Given the description of an element on the screen output the (x, y) to click on. 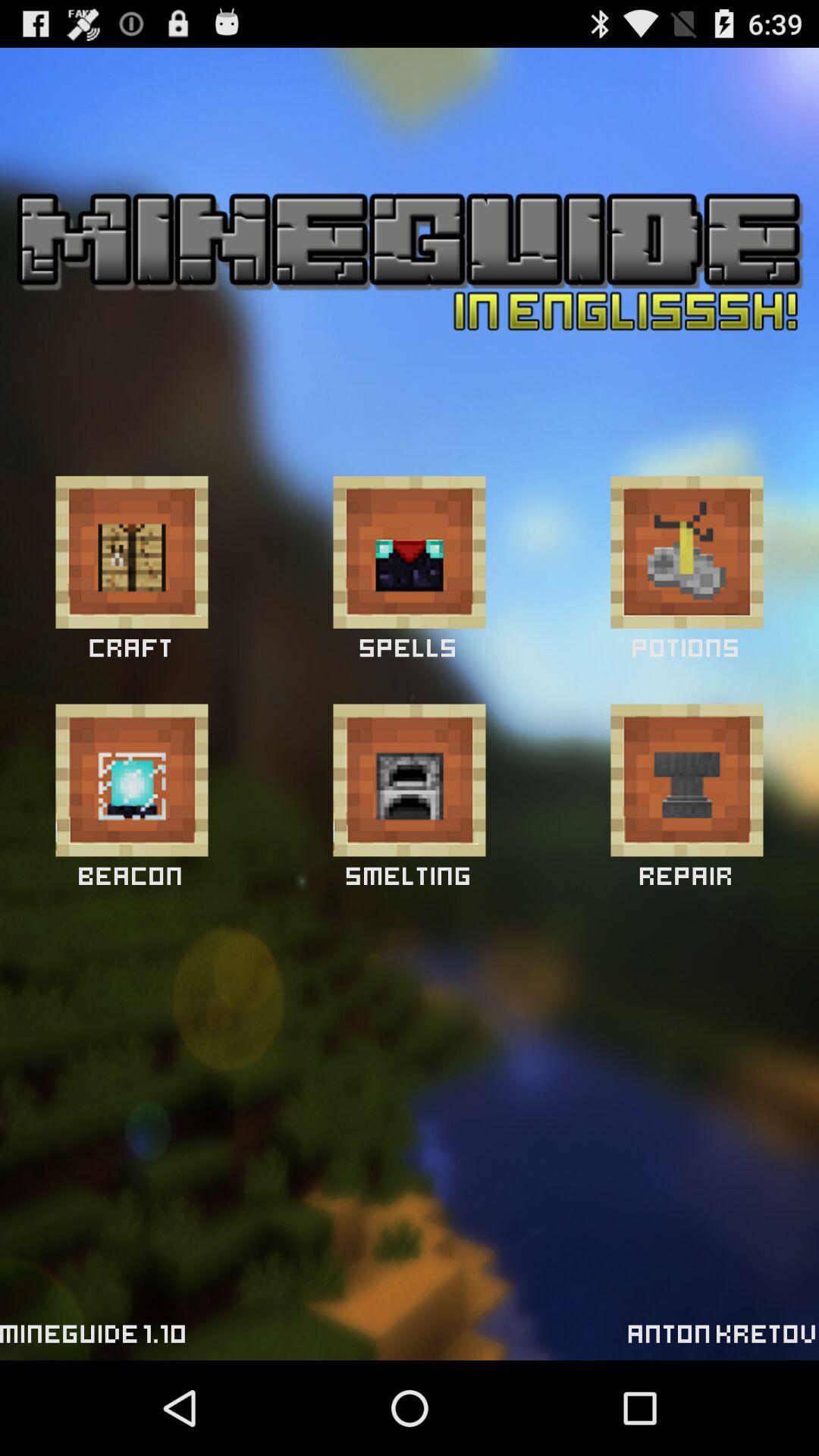
click the icon above the repair (686, 780)
